Given the description of an element on the screen output the (x, y) to click on. 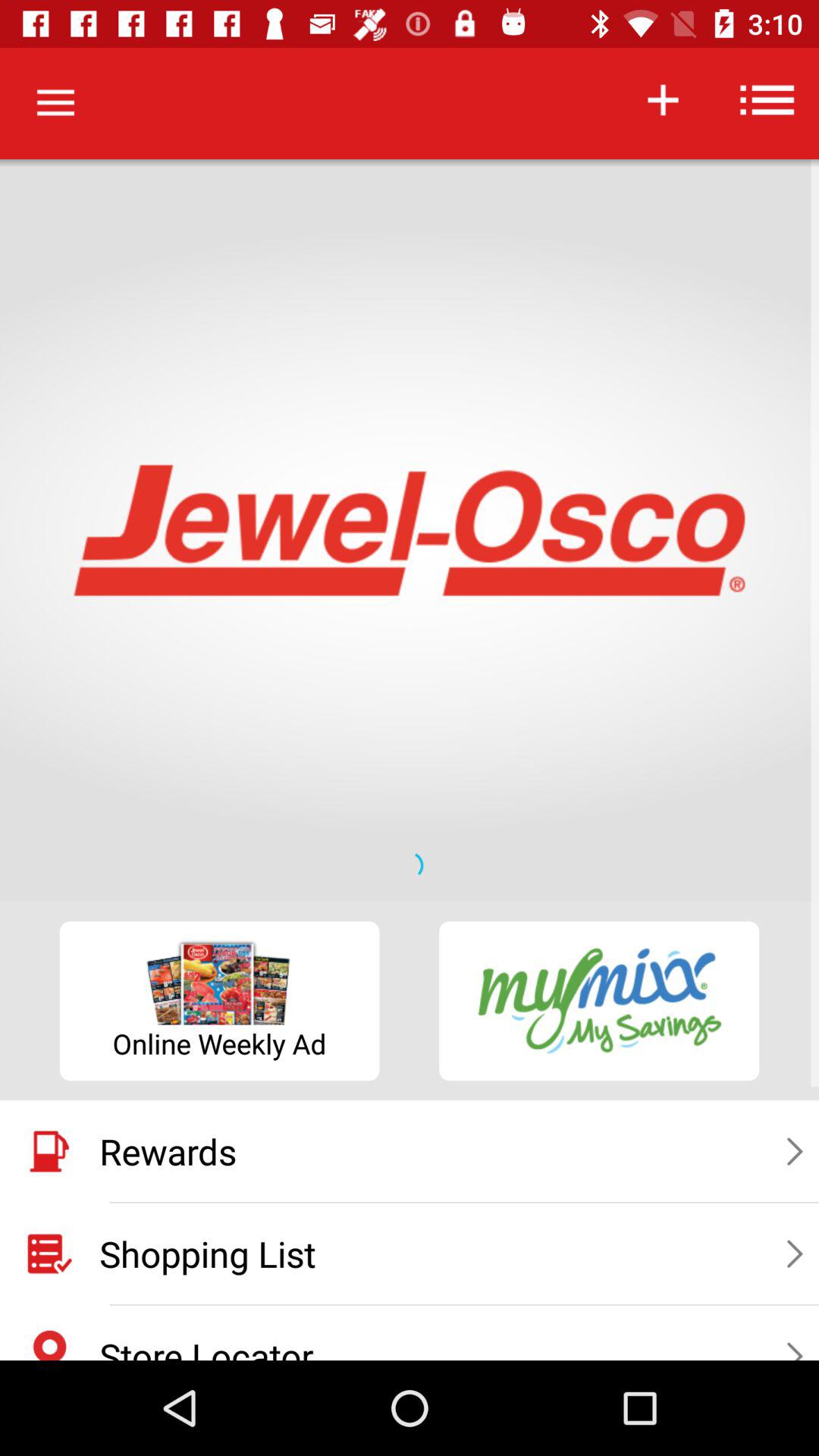
turn off the icon at the top left corner (55, 103)
